Given the description of an element on the screen output the (x, y) to click on. 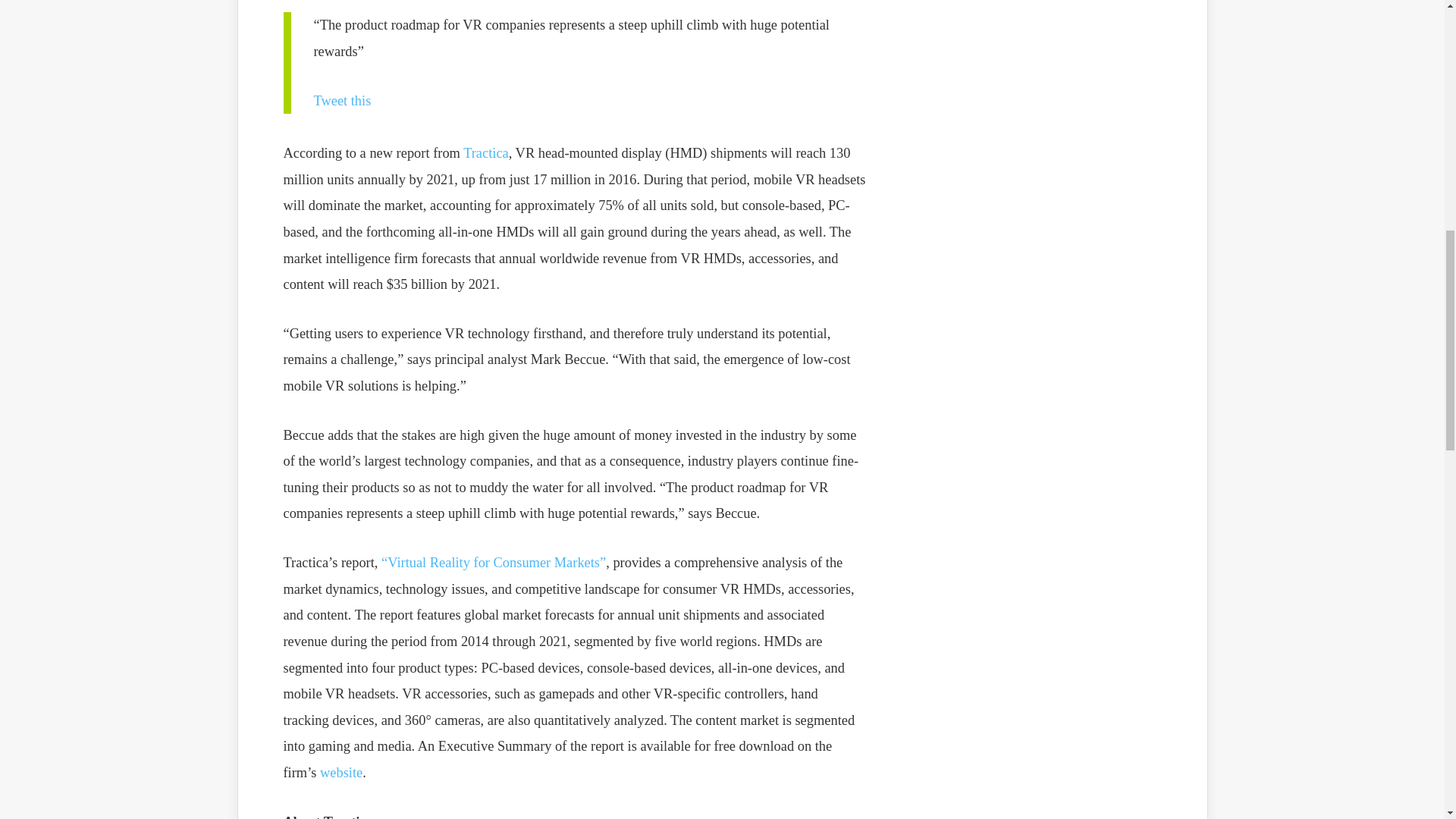
website (341, 772)
Tractica (485, 152)
Tweet this (342, 100)
